Given the description of an element on the screen output the (x, y) to click on. 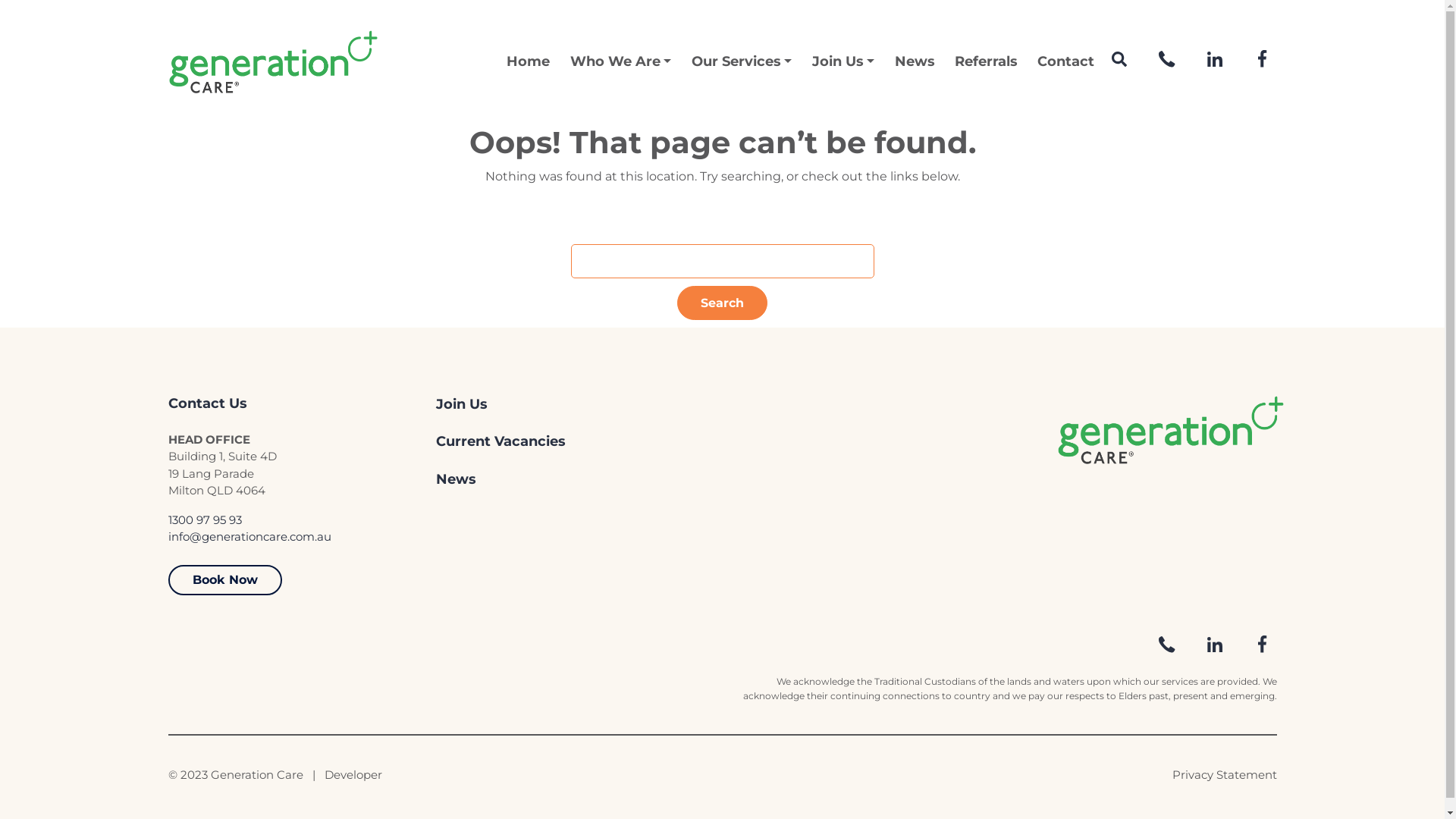
Join Us Element type: text (842, 61)
Developer Element type: text (353, 774)
Search Element type: text (722, 302)
Who We Are Element type: text (620, 61)
Join Us Element type: text (568, 404)
Referrals Element type: text (985, 61)
News Element type: text (913, 61)
News Element type: text (568, 479)
Book Now Element type: text (225, 579)
Current Vacancies Element type: text (568, 441)
Contact Element type: text (1065, 61)
info@generationcare.com.au Element type: text (249, 536)
1300 97 95 93 Element type: text (204, 519)
Home Element type: text (528, 61)
Privacy Statement Element type: text (1224, 774)
Our Services Element type: text (740, 61)
Contact Us Element type: text (302, 403)
